Given the description of an element on the screen output the (x, y) to click on. 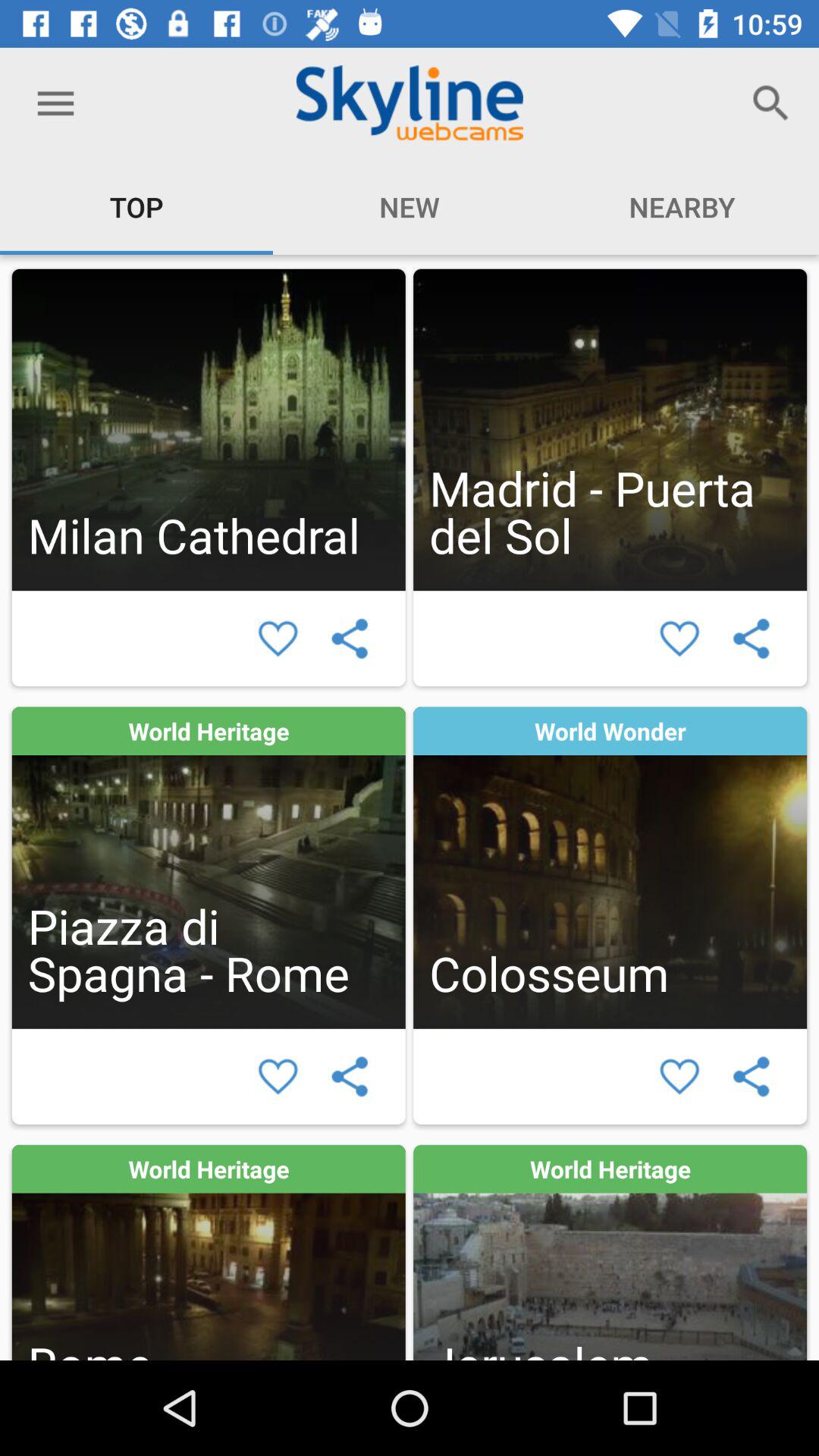
social share button (751, 1076)
